Given the description of an element on the screen output the (x, y) to click on. 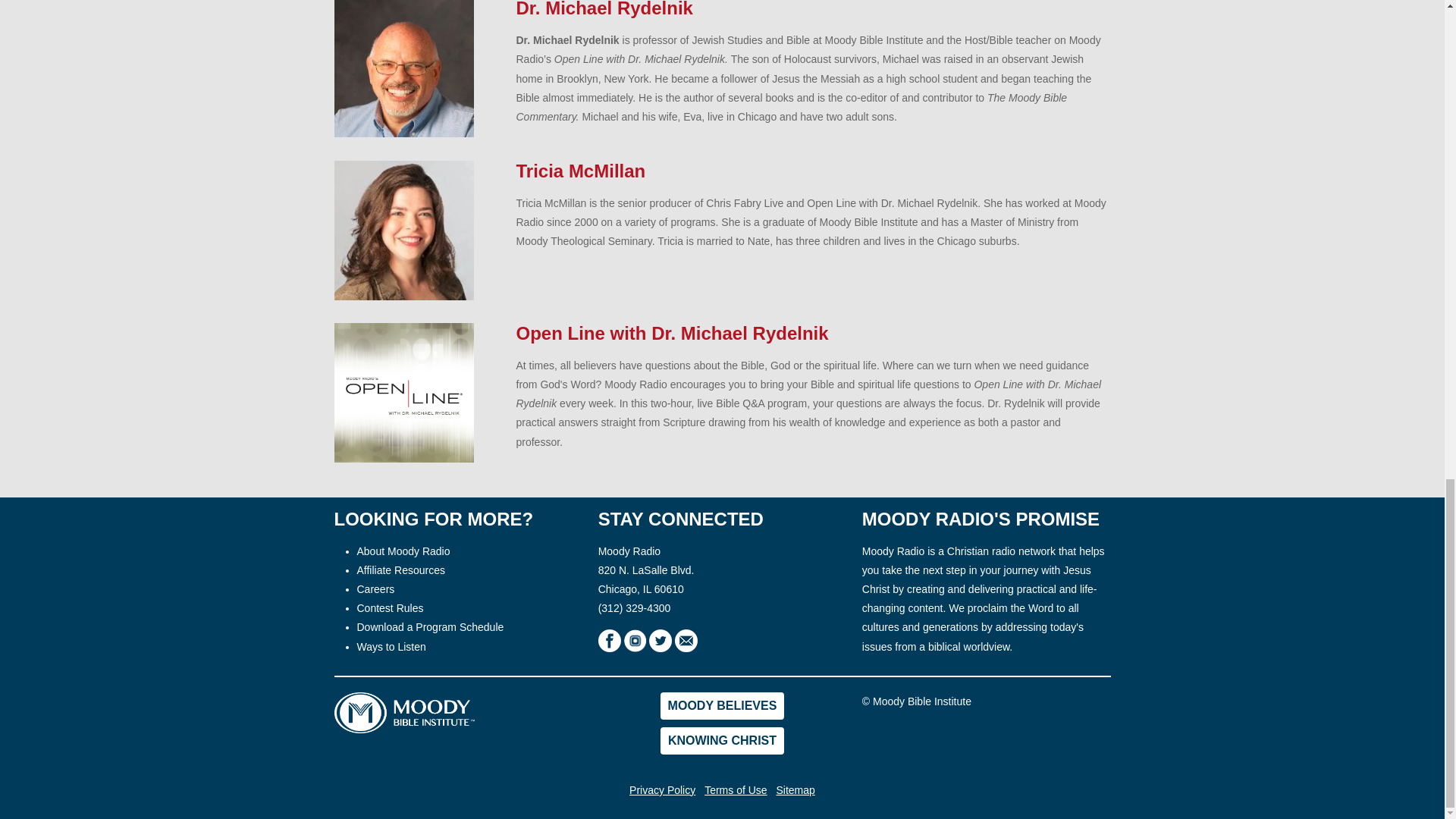
Moody Radio Instagram (635, 640)
Moody Radio Facebook (609, 640)
Moody Radio Instagram (636, 639)
Moody Radio Facebook (611, 639)
